Given the description of an element on the screen output the (x, y) to click on. 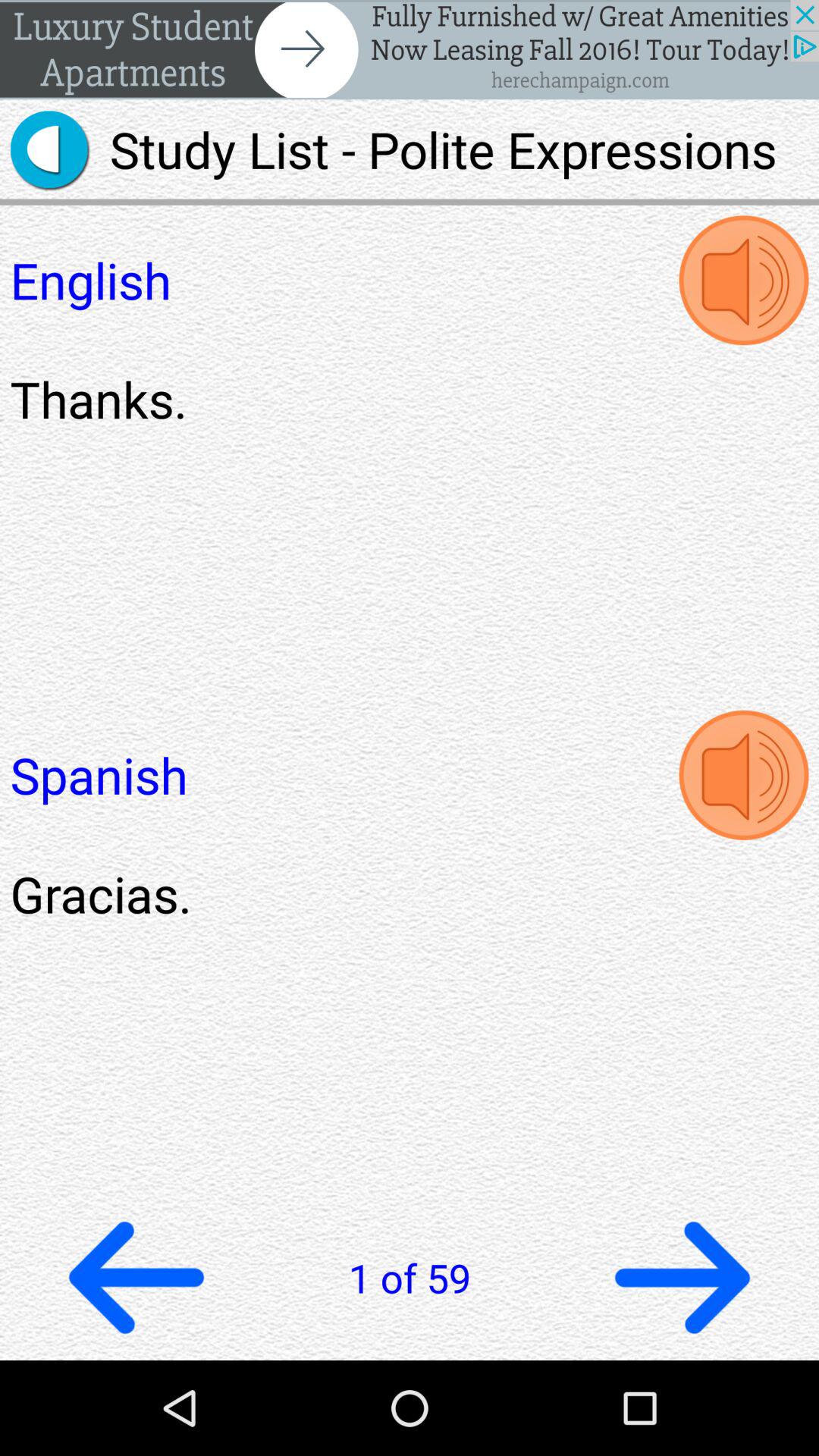
listen to spanish audio (743, 775)
